Given the description of an element on the screen output the (x, y) to click on. 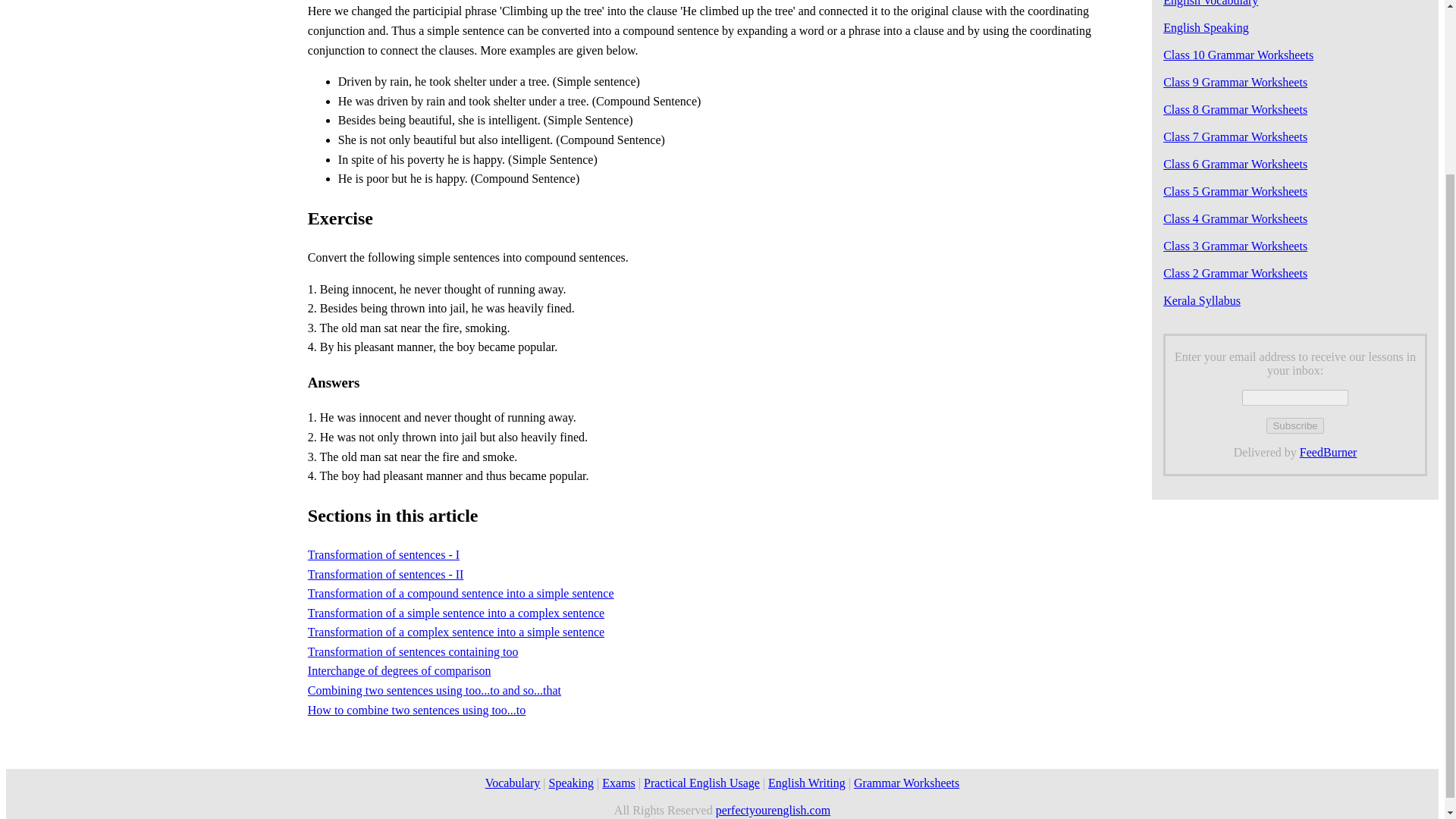
Grammar Worksheets (906, 782)
Transformation of sentences - I (383, 554)
Class 4 Grammar Worksheets (1235, 218)
Transformation of a simple sentence into a complex sentence (455, 612)
Transformation of sentences containing too (412, 651)
Transformation of sentences - II (385, 573)
Interchange of degrees of comparison (399, 670)
Class 3 Grammar Worksheets (1235, 245)
Subscribe (1294, 425)
FeedBurner (1328, 451)
Class 10 Grammar Worksheets (1238, 54)
English Speaking (1205, 27)
English Writing (806, 782)
Combining two sentences using too...to and so...that (433, 689)
Transformation of a complex sentence into a simple sentence (455, 631)
